Given the description of an element on the screen output the (x, y) to click on. 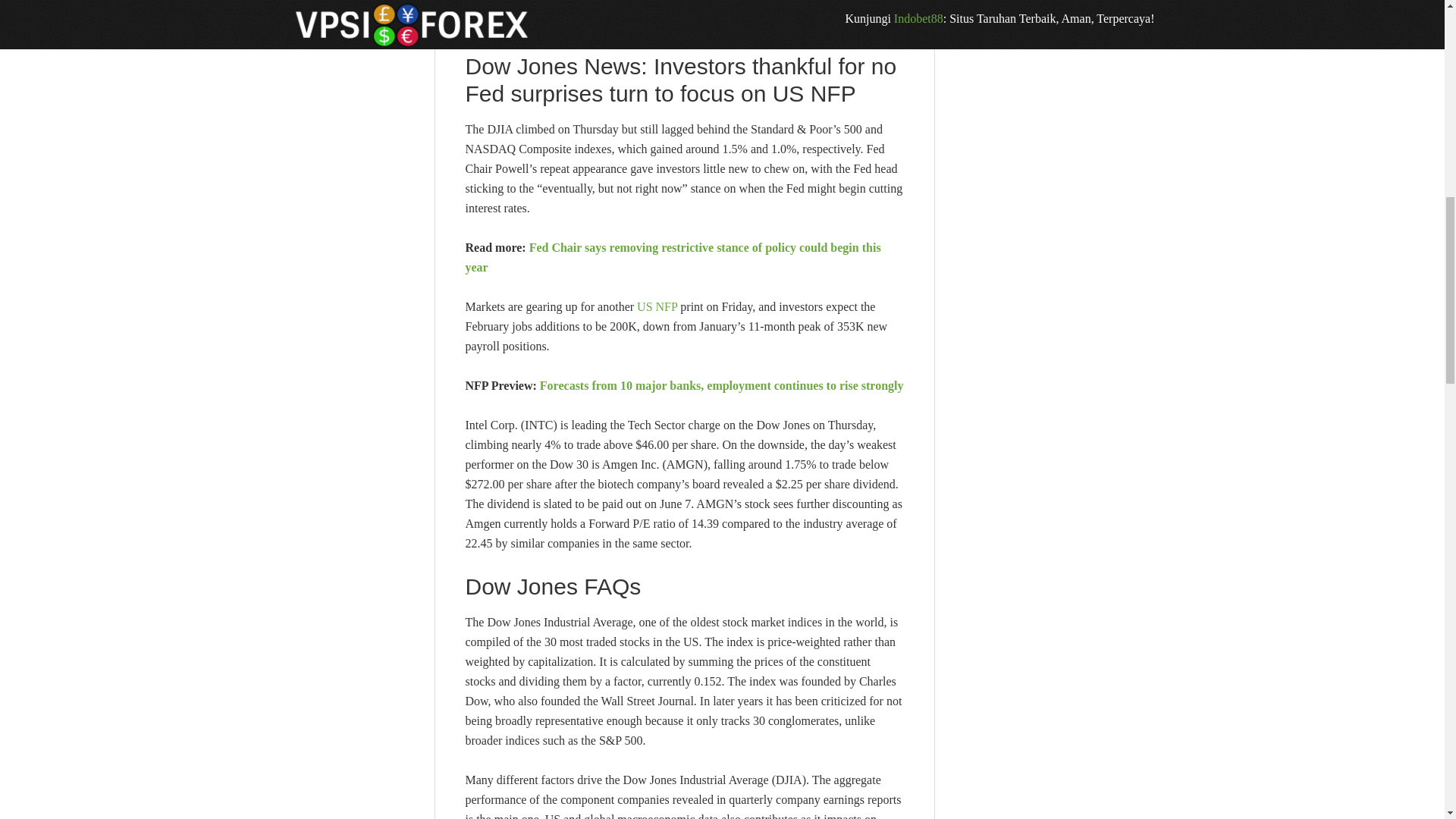
US NFP (657, 306)
